Given the description of an element on the screen output the (x, y) to click on. 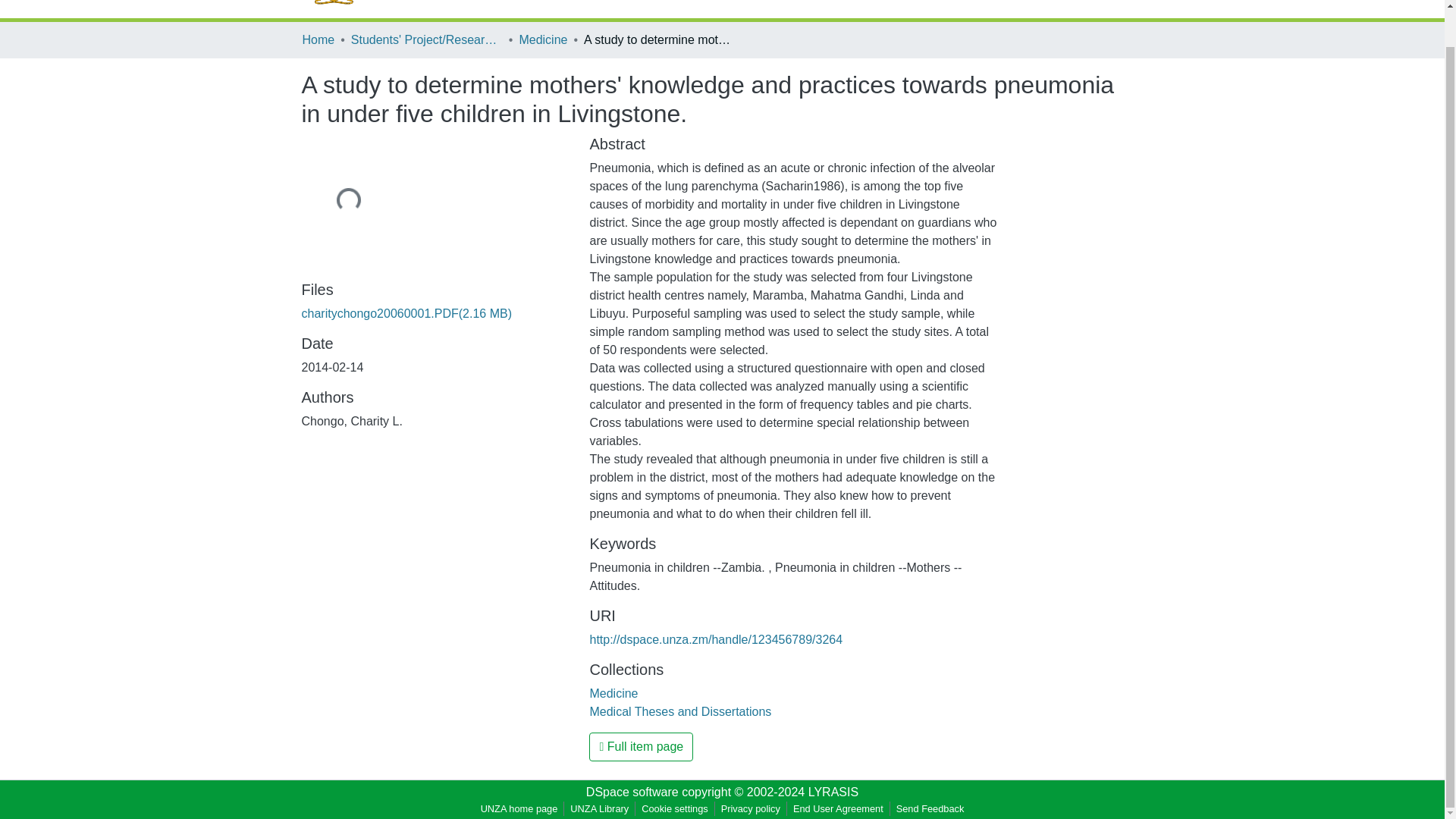
DSpace software (632, 791)
Medicine (613, 693)
Full item page (641, 746)
Cookie settings (674, 808)
Home (317, 40)
LYRASIS (833, 791)
Privacy policy (750, 808)
Medical Theses and Dissertations (680, 711)
Send Feedback (930, 808)
UNZA home page (519, 808)
